Given the description of an element on the screen output the (x, y) to click on. 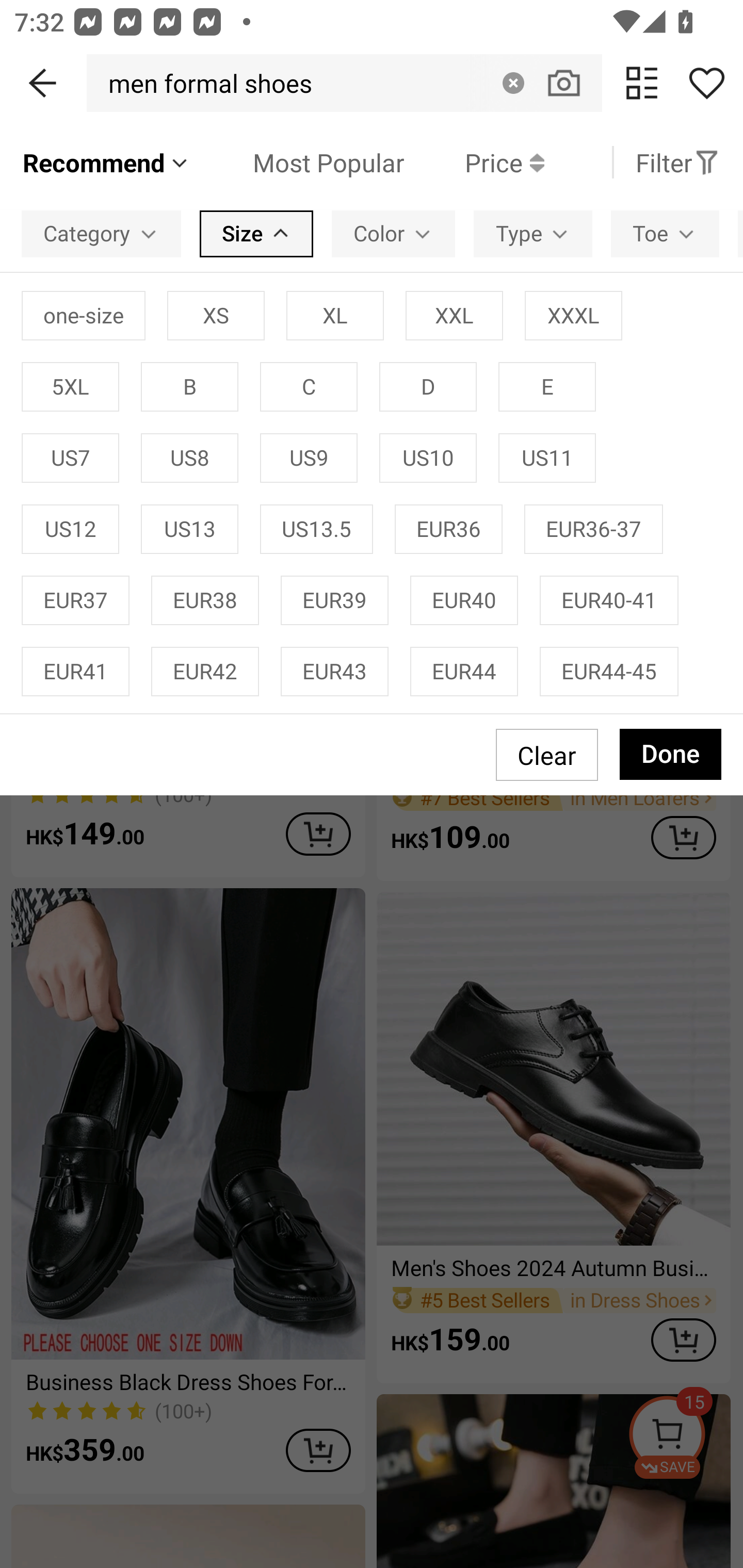
men formal shoes Clear (343, 82)
men formal shoes (204, 82)
Clear (513, 82)
change view (641, 82)
Share (706, 82)
Recommend (106, 162)
Most Popular (297, 162)
Price (474, 162)
Filter (677, 162)
Category (101, 233)
Size (256, 233)
Color (393, 233)
Type (533, 233)
Toe (664, 233)
